Given the description of an element on the screen output the (x, y) to click on. 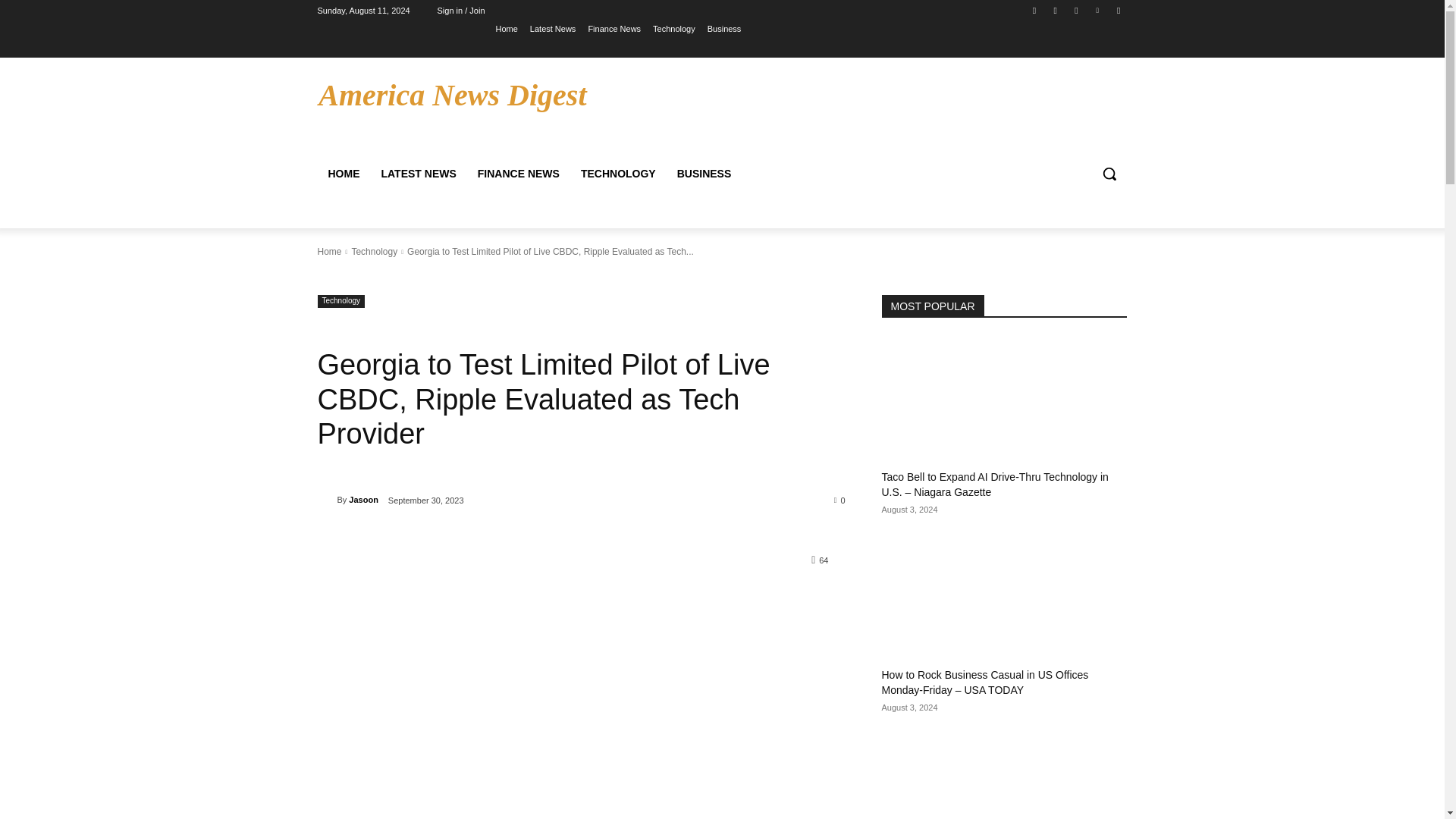
Jasoon (363, 499)
HOME (343, 173)
Finance News (614, 28)
Business (724, 28)
Jasoon (326, 499)
Technology (373, 251)
TECHNOLOGY (618, 173)
FINANCE NEWS (518, 173)
America News Digest (451, 95)
Youtube (1117, 9)
